Given the description of an element on the screen output the (x, y) to click on. 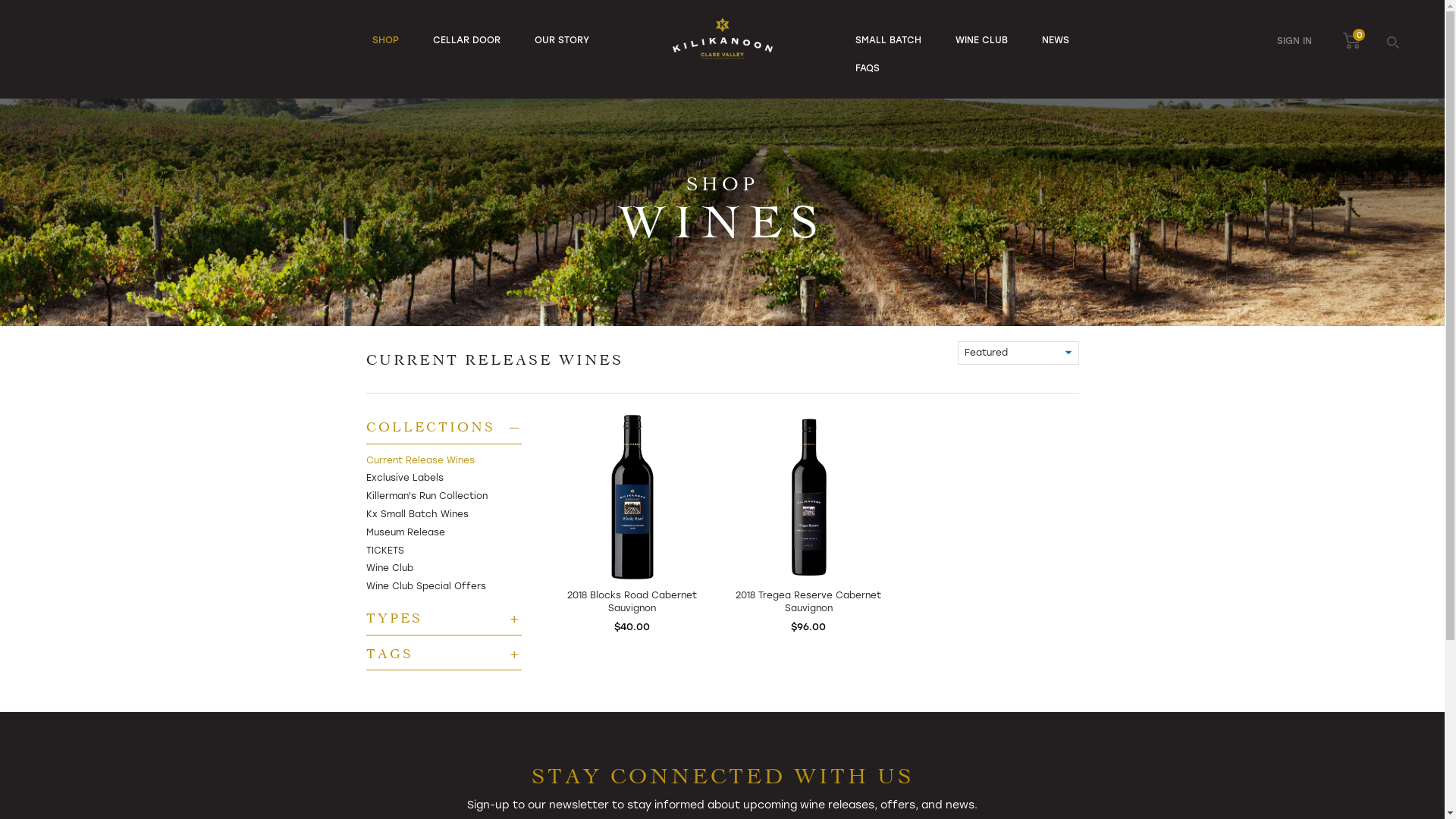
CELLAR DOOR Element type: text (466, 39)
0 Element type: text (1351, 40)
WINE CLUB Element type: text (981, 39)
NEWS Element type: text (1055, 39)
OUR STORY Element type: text (561, 39)
Wine Club Element type: text (388, 567)
2018 Blocks Road Cabernet Sauvignon Element type: text (631, 601)
Exclusive Labels Element type: text (403, 477)
Current Release Wines Element type: text (419, 460)
SHOP Element type: text (385, 39)
FAQS Element type: text (867, 67)
Kx Small Batch Wines Element type: text (416, 513)
2018 Tregea Reserve Cabernet Sauvignon Element type: text (808, 601)
Wine Club Special Offers Element type: text (425, 585)
TICKETS Element type: text (384, 550)
Killerman's Run Collection Element type: text (425, 495)
SIGN IN Element type: text (1294, 40)
SMALL BATCH Element type: text (888, 39)
Museum Release Element type: text (404, 532)
